Given the description of an element on the screen output the (x, y) to click on. 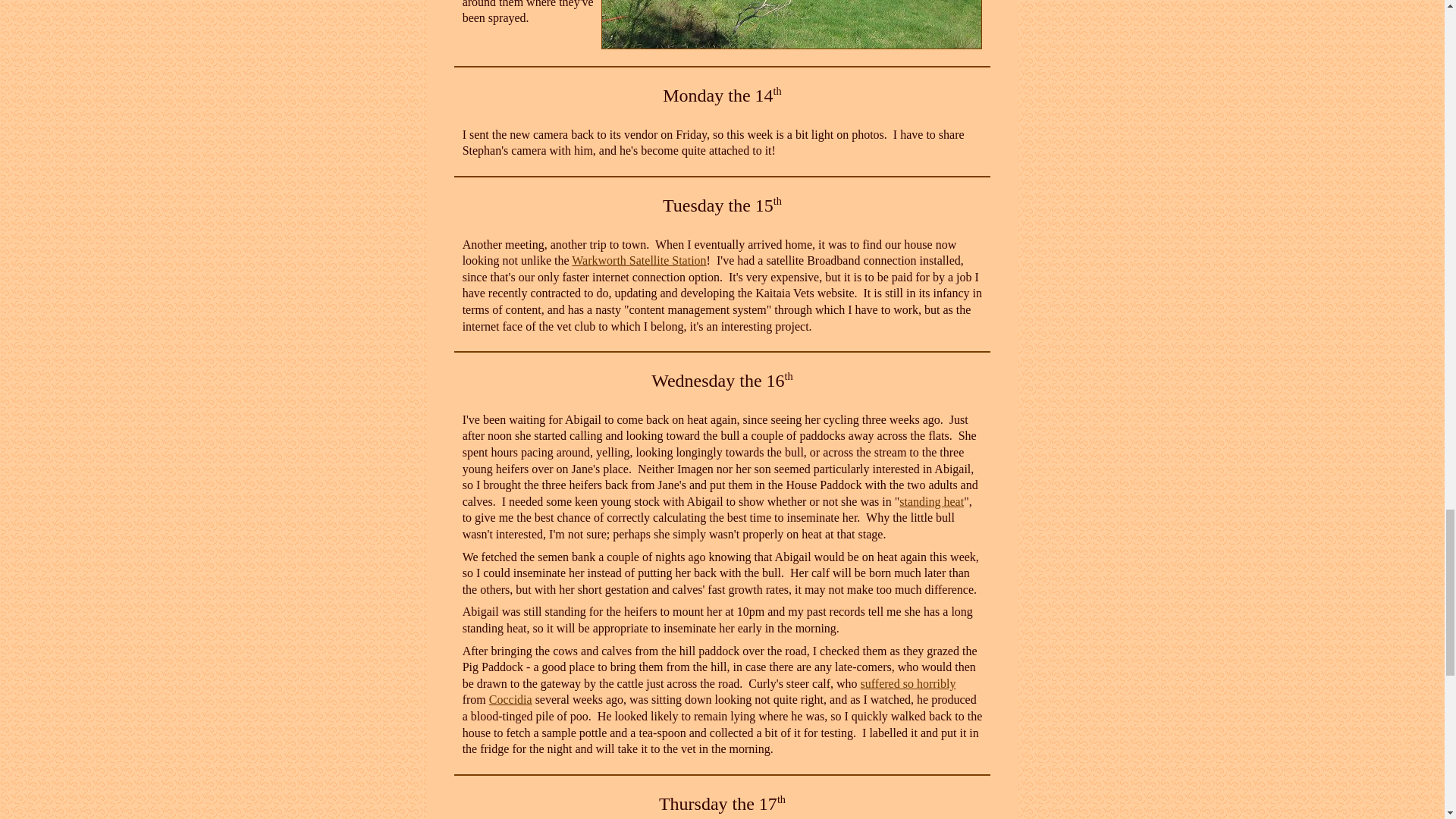
suffered so horribly (908, 683)
Coccidia (510, 698)
standing heat (931, 501)
Warkworth Satellite Station (639, 259)
